Given the description of an element on the screen output the (x, y) to click on. 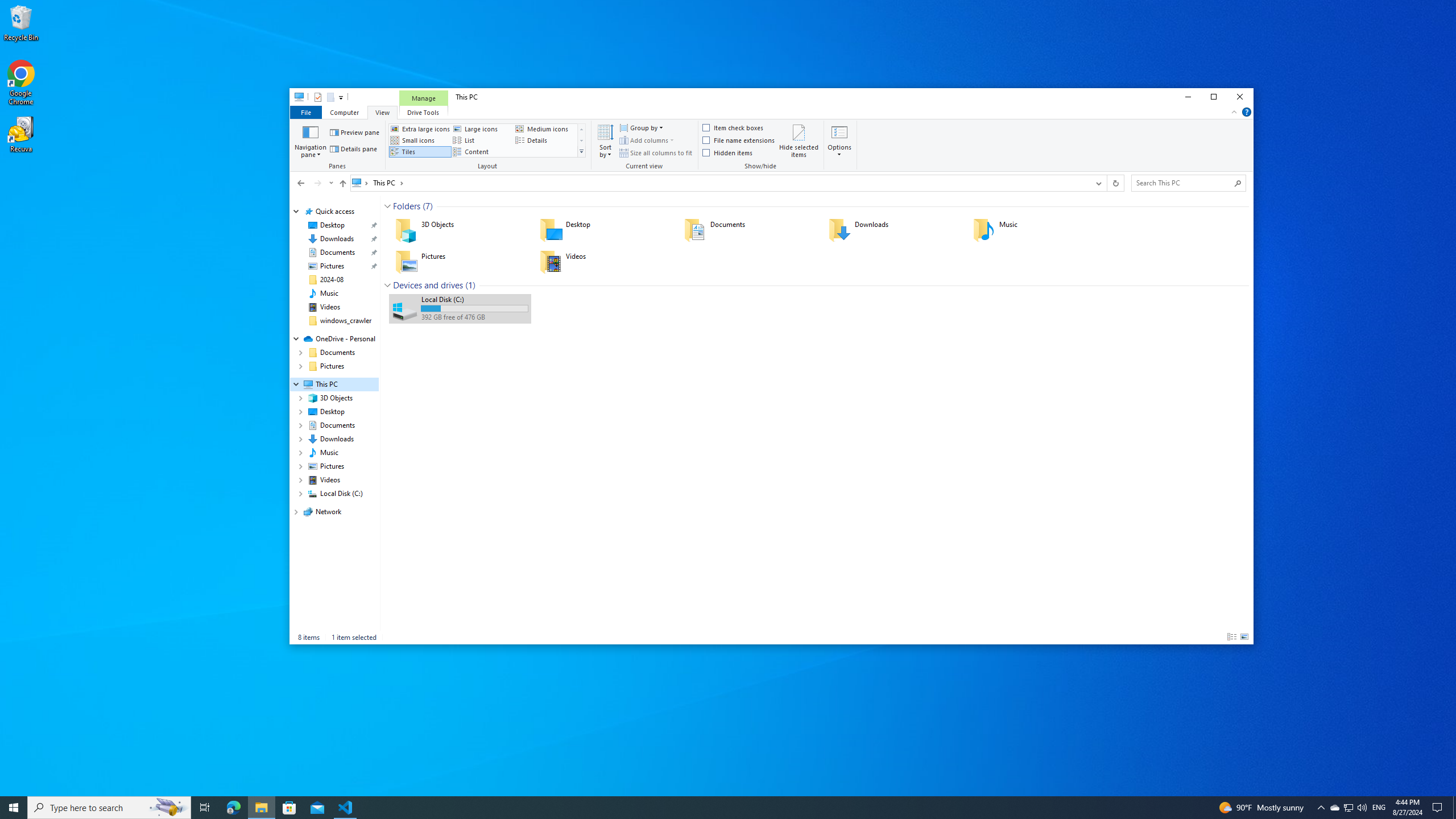
3D Objects (459, 229)
Extra large icons (419, 129)
Pictures (pinned) (331, 265)
Up to "Desktop" (Alt + Up Arrow) (342, 183)
Tiles (419, 151)
Views (580, 151)
Refresh "This PC" (F5) (1115, 182)
Hidden items (727, 152)
Close (1240, 96)
File name extensions (738, 140)
Layout (489, 145)
Preview pane (354, 132)
